Given the description of an element on the screen output the (x, y) to click on. 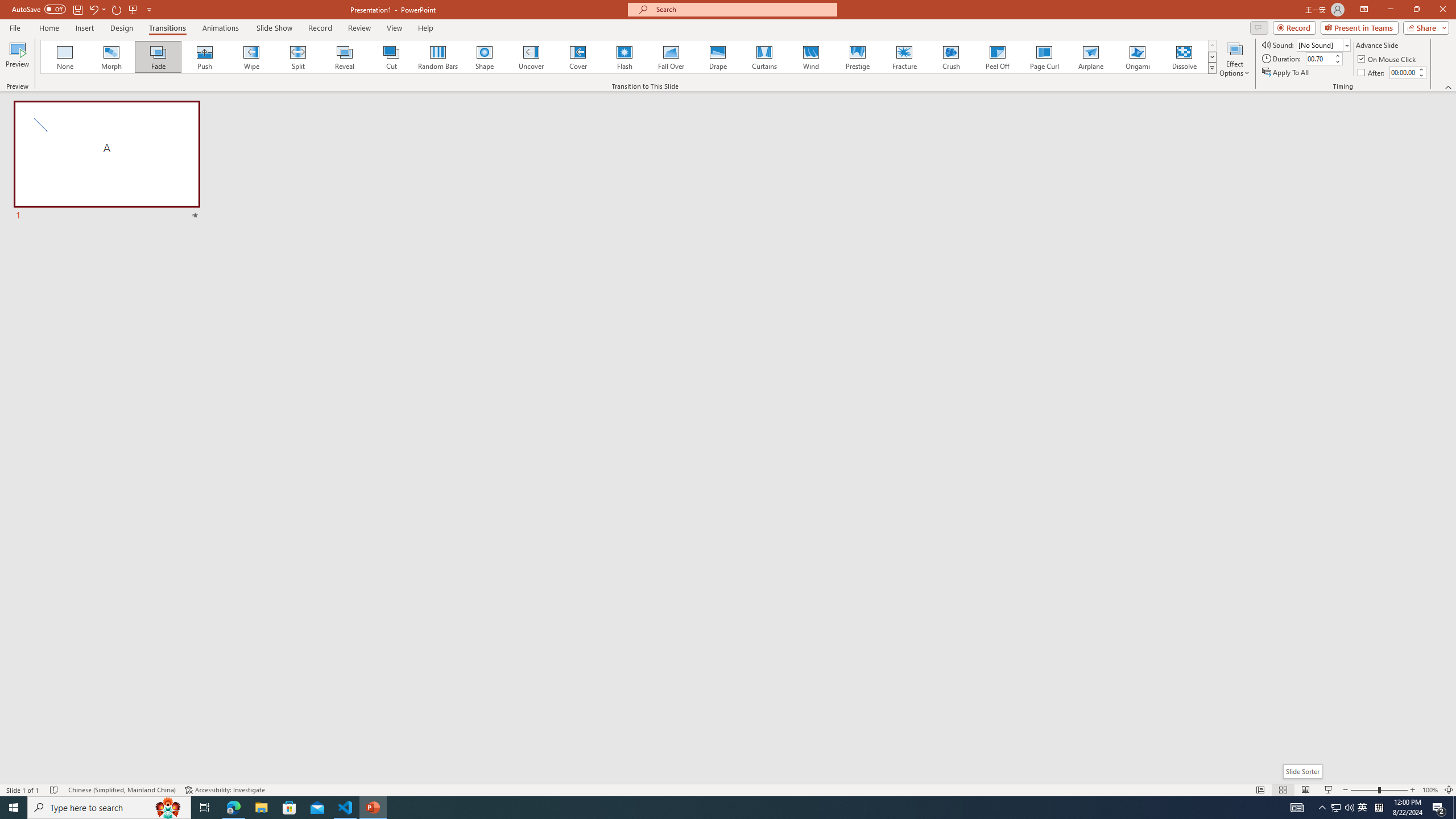
Effect Options (1234, 58)
Page Curl (1043, 56)
Curtains (764, 56)
Wind (810, 56)
Random Bars (437, 56)
